Given the description of an element on the screen output the (x, y) to click on. 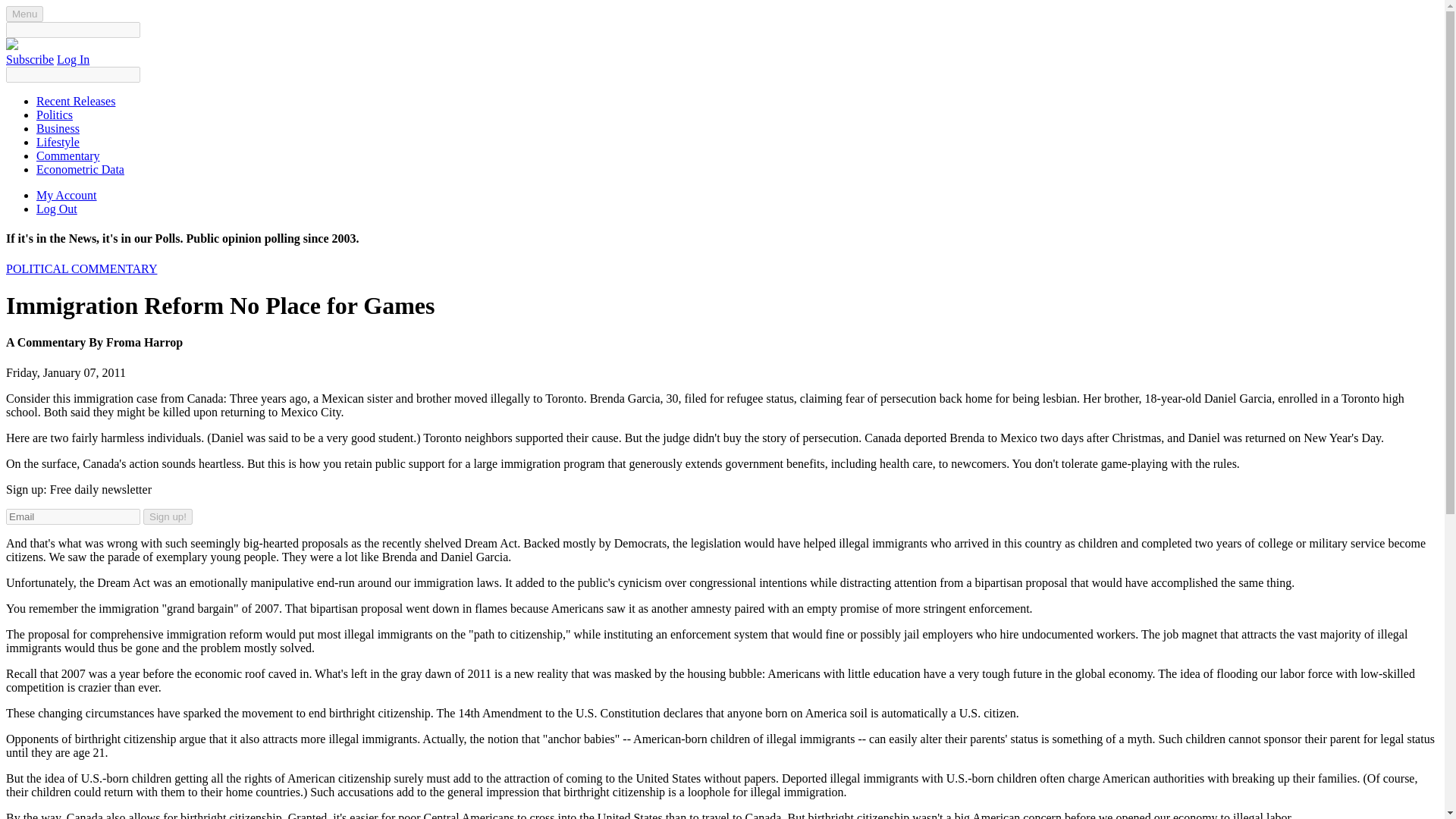
Lifestyle (58, 141)
My Account (66, 195)
Politics (54, 114)
Sign up! (167, 516)
Business (58, 128)
POLITICAL COMMENTARY (81, 268)
Log Out (56, 208)
Recent Releases (75, 101)
Log In (72, 59)
Commentary (68, 155)
